Given the description of an element on the screen output the (x, y) to click on. 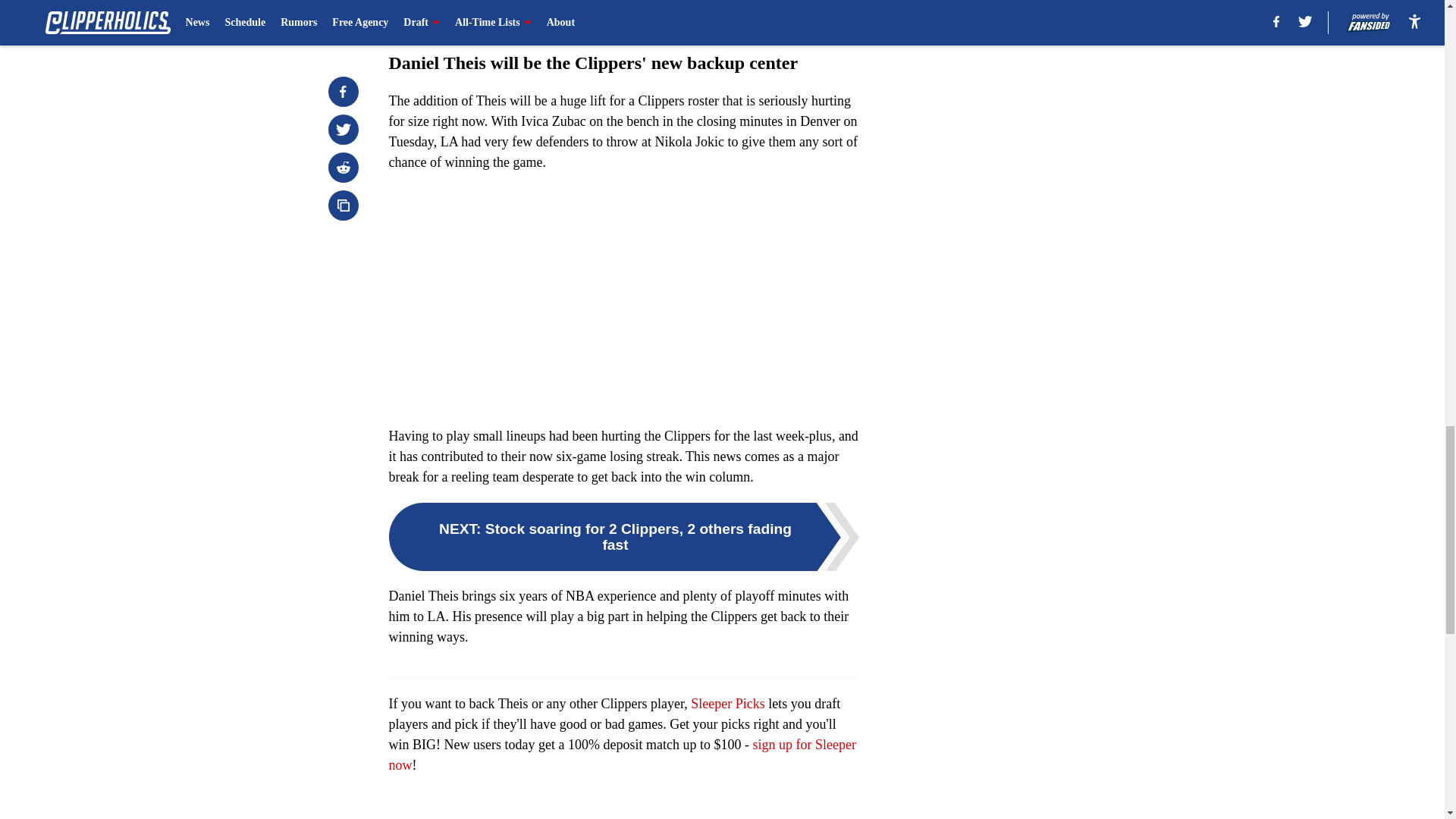
Sleeper Picks (727, 703)
sign up for Sleeper now (622, 755)
NEXT: Stock soaring for 2 Clippers, 2 others fading fast (623, 536)
November 15, 2023 (648, 15)
